Given the description of an element on the screen output the (x, y) to click on. 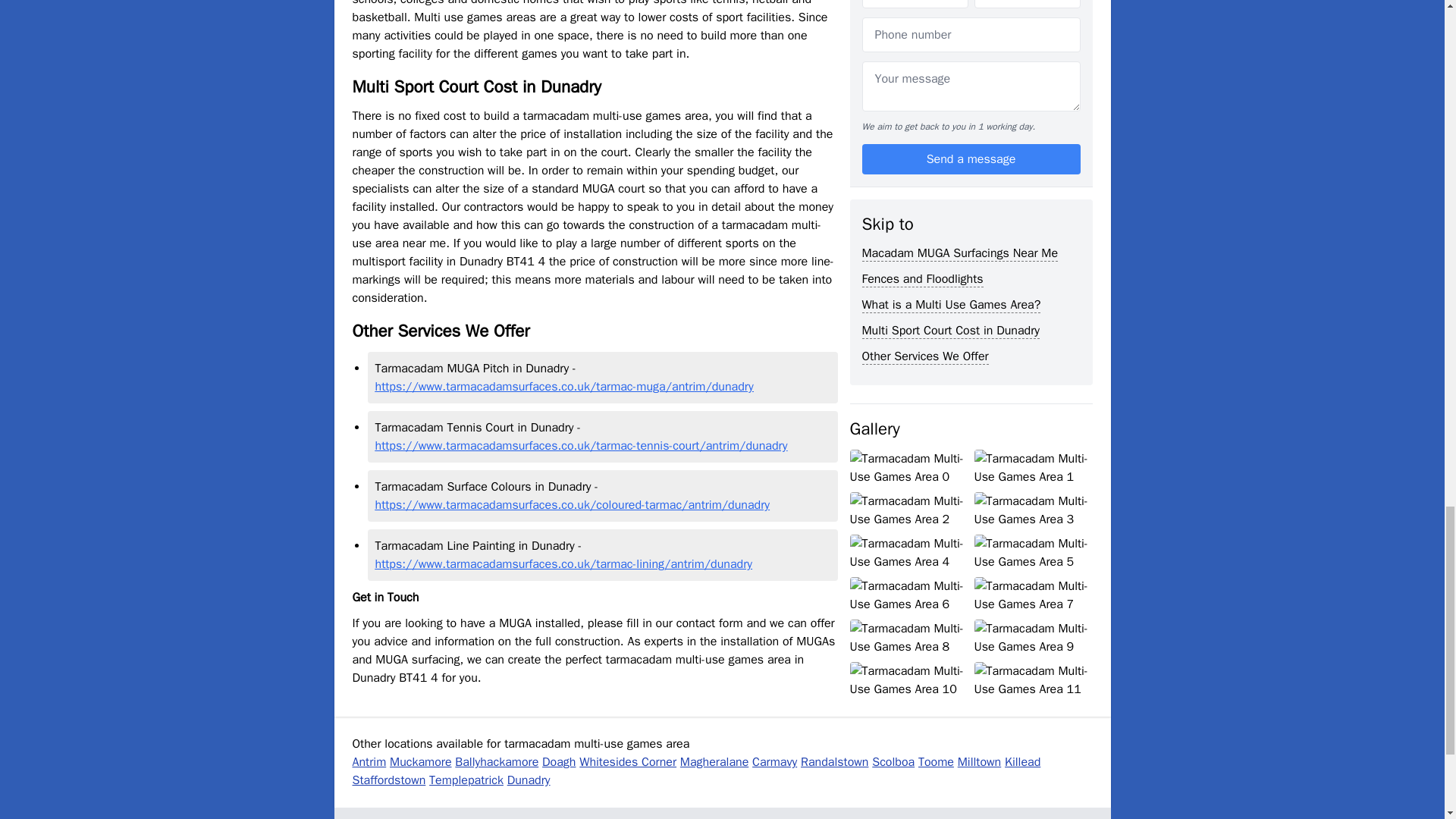
Muckamore (420, 761)
Antrim (368, 761)
Doagh (558, 761)
Ballyhackamore (496, 761)
